Given the description of an element on the screen output the (x, y) to click on. 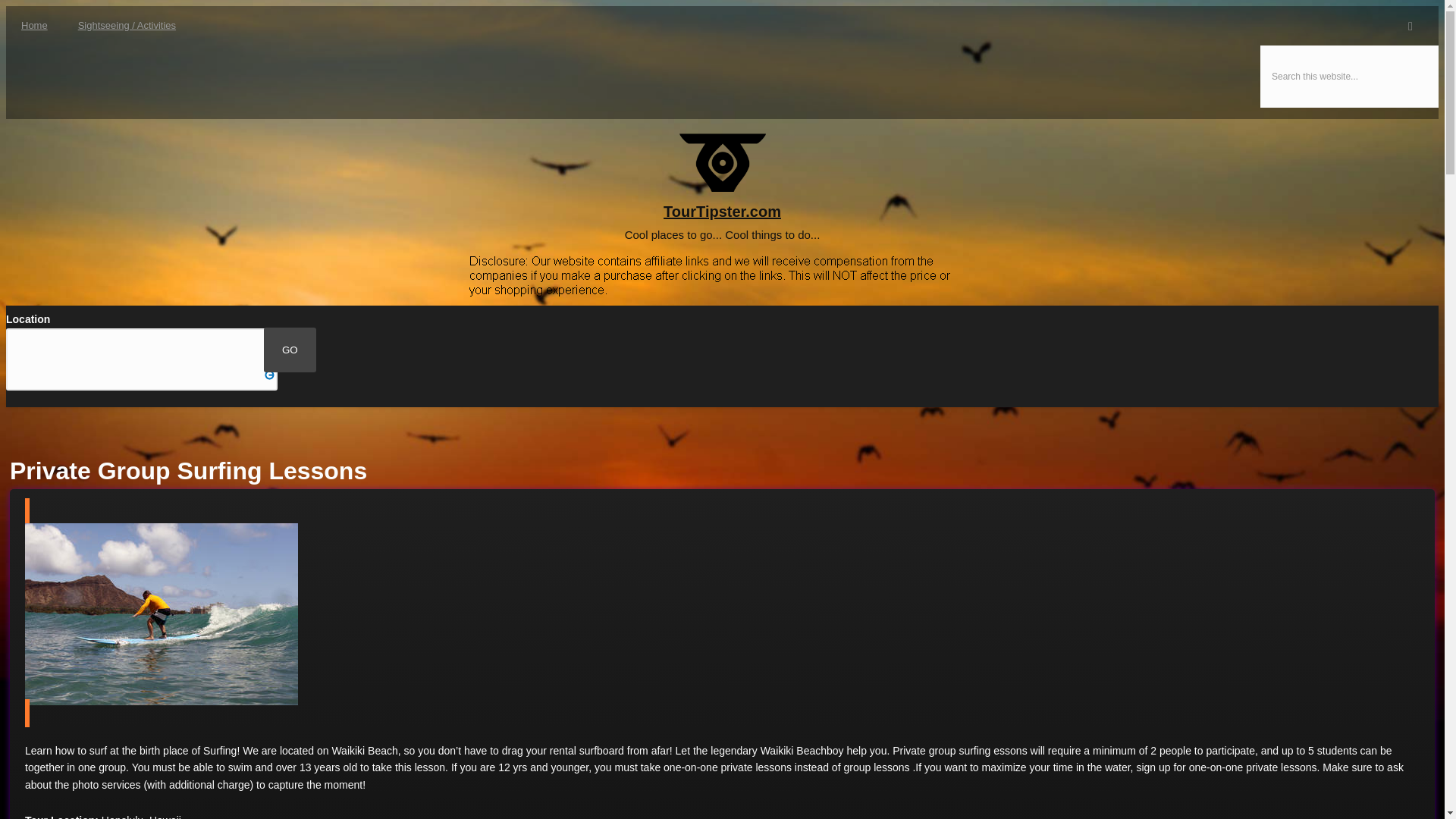
Private Group Surfing Lessons (161, 614)
Go (289, 349)
Home (33, 25)
Go (26, 22)
Home (722, 191)
Go (289, 349)
